Given the description of an element on the screen output the (x, y) to click on. 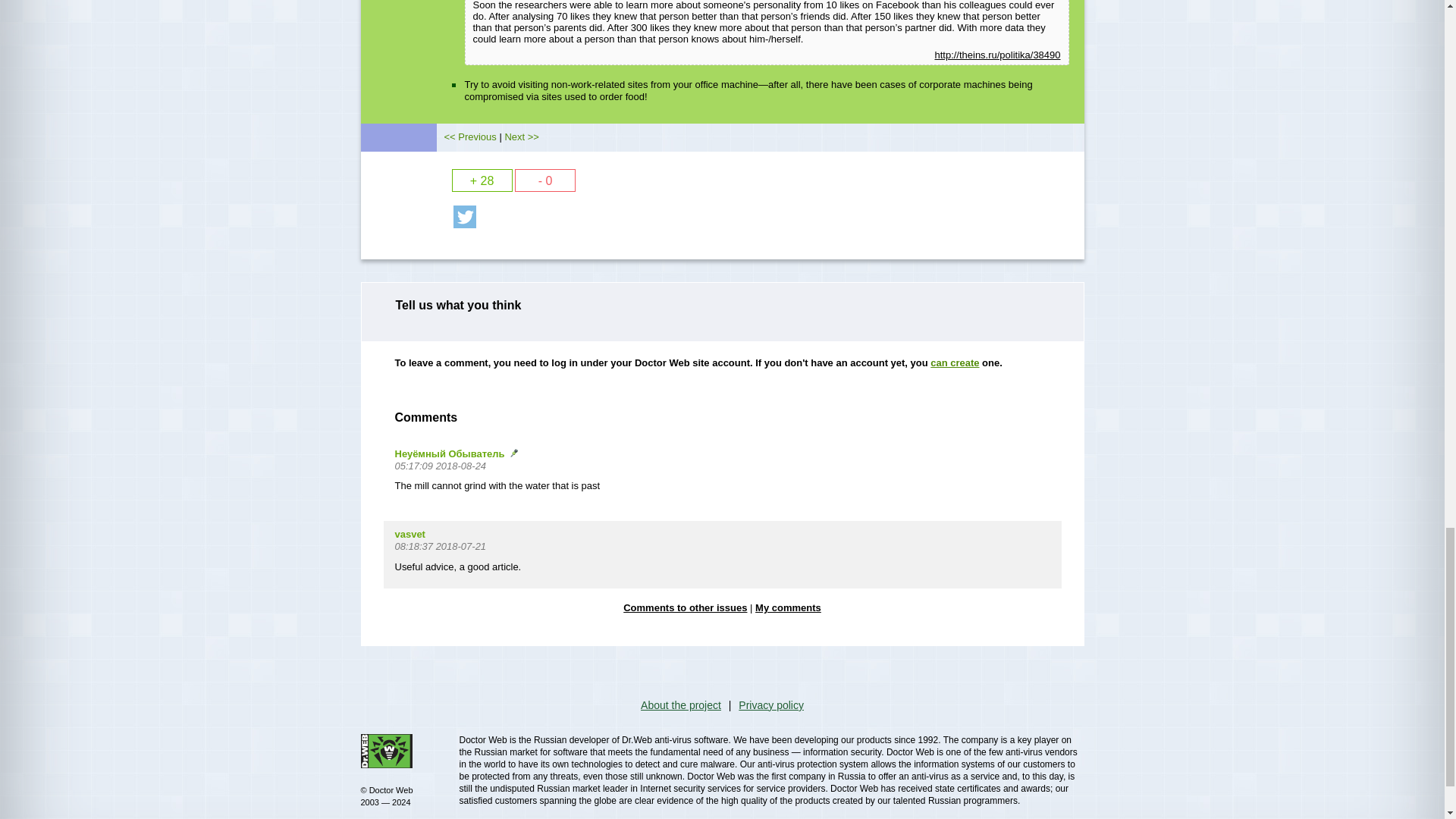
Shock therapy for the lazy and ignorant (520, 136)
Shared 15 times (464, 216)
Taming traffic gobblers (470, 136)
